Given the description of an element on the screen output the (x, y) to click on. 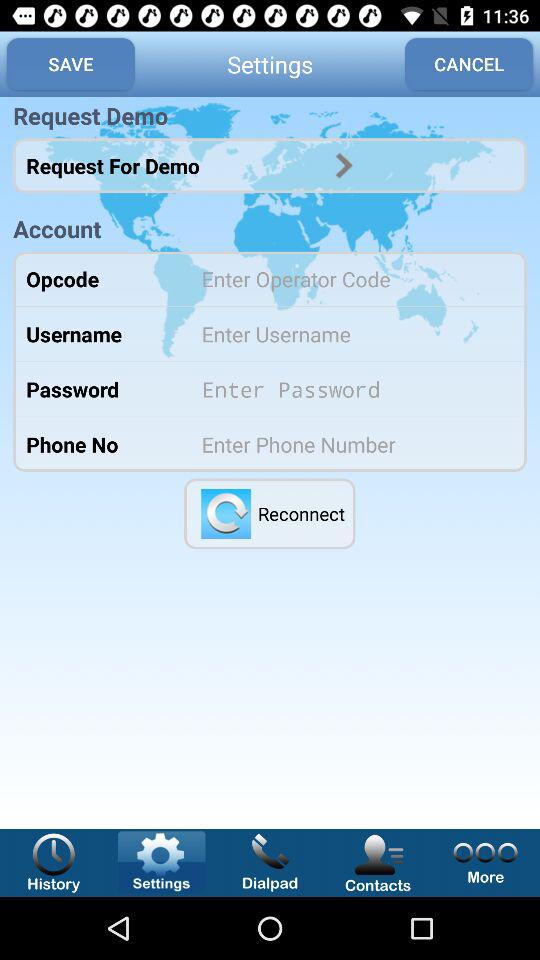
type password (350, 389)
